Given the description of an element on the screen output the (x, y) to click on. 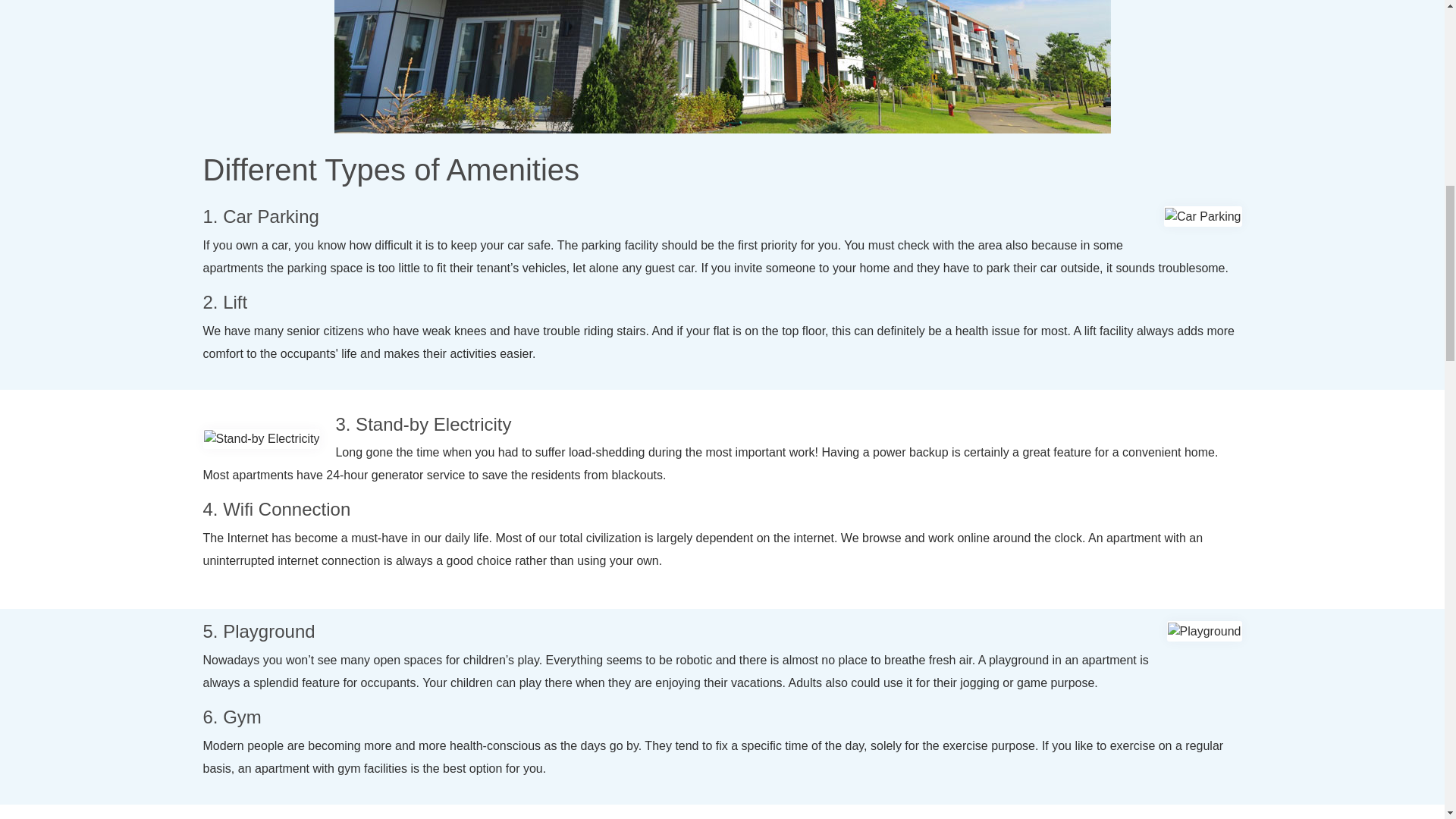
Stand-by Electricity (260, 438)
Car Parking (1202, 217)
Playground (1204, 631)
